Given the description of an element on the screen output the (x, y) to click on. 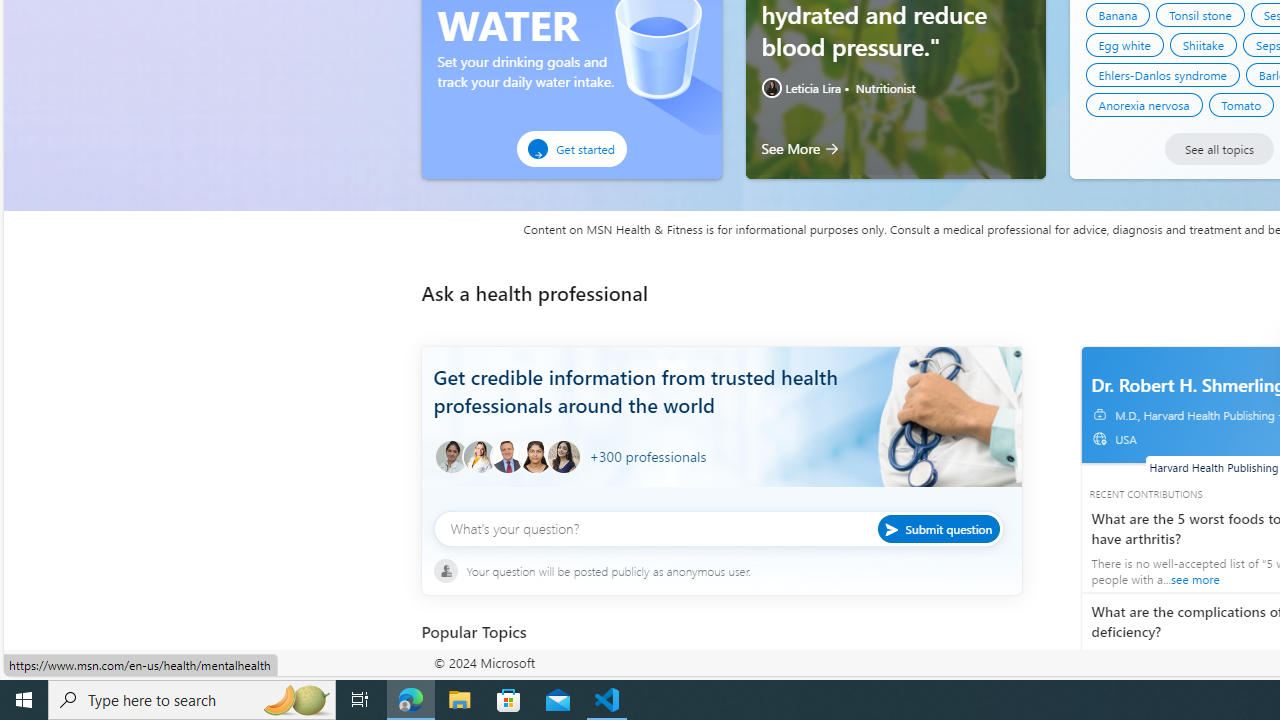
Pictorial representation of Stroke Stroke Condition (562, 682)
Get started (571, 149)
Health professional icon (450, 457)
What's your question? (718, 528)
Egg white (1124, 44)
Pictorial representation of Stroke (461, 682)
Background (721, 431)
Anorexia nervosa (1144, 104)
Submit question (937, 528)
